Given the description of an element on the screen output the (x, y) to click on. 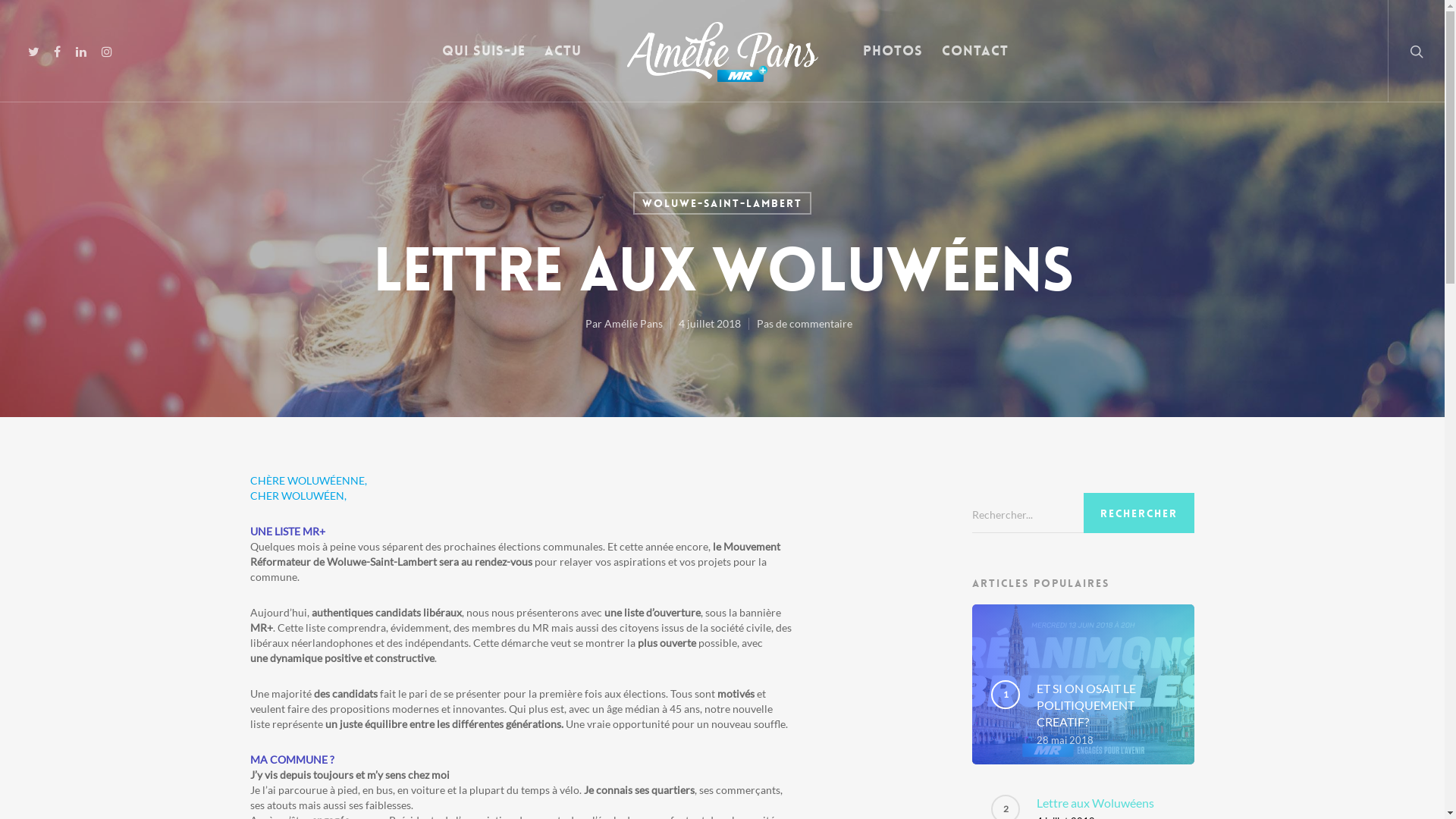
Pas de commentaire Element type: text (804, 322)
Search for: Element type: hover (1083, 514)
Contact Element type: text (975, 61)
WOLUWE-SAINT-LAMBERT Element type: text (721, 202)
Qui suis-je Element type: text (483, 61)
Rechercher Element type: text (1138, 512)
ET SI ON OSAIT LE POLITIQUEMENT CREATIF?
28 mai 2018 Element type: text (1105, 712)
Actu Element type: text (562, 61)
Photos Element type: text (892, 61)
